Given the description of an element on the screen output the (x, y) to click on. 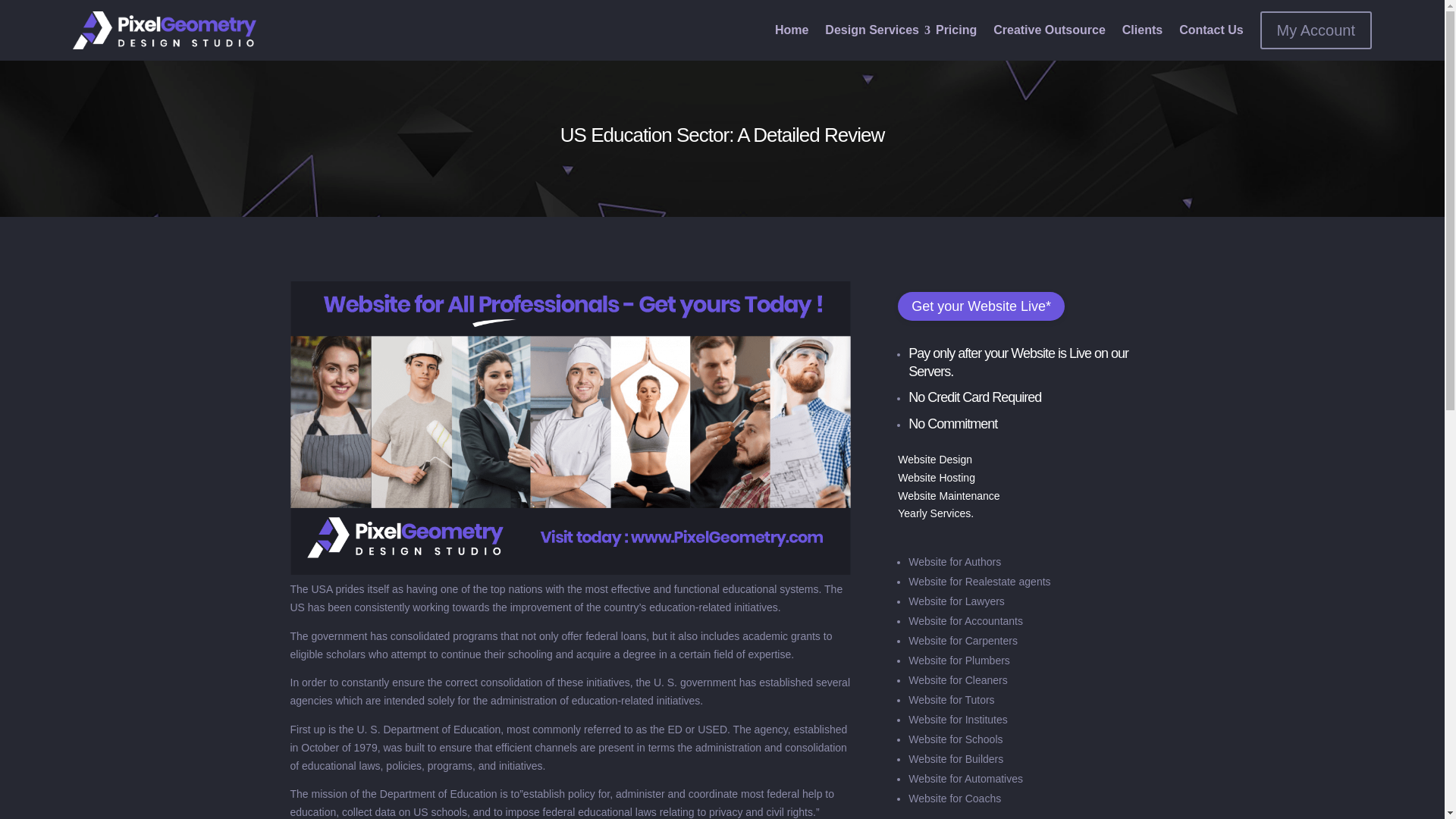
My Account (1315, 30)
Design Services (871, 30)
Creative Outsource (1048, 30)
Contact Us (1211, 30)
